Given the description of an element on the screen output the (x, y) to click on. 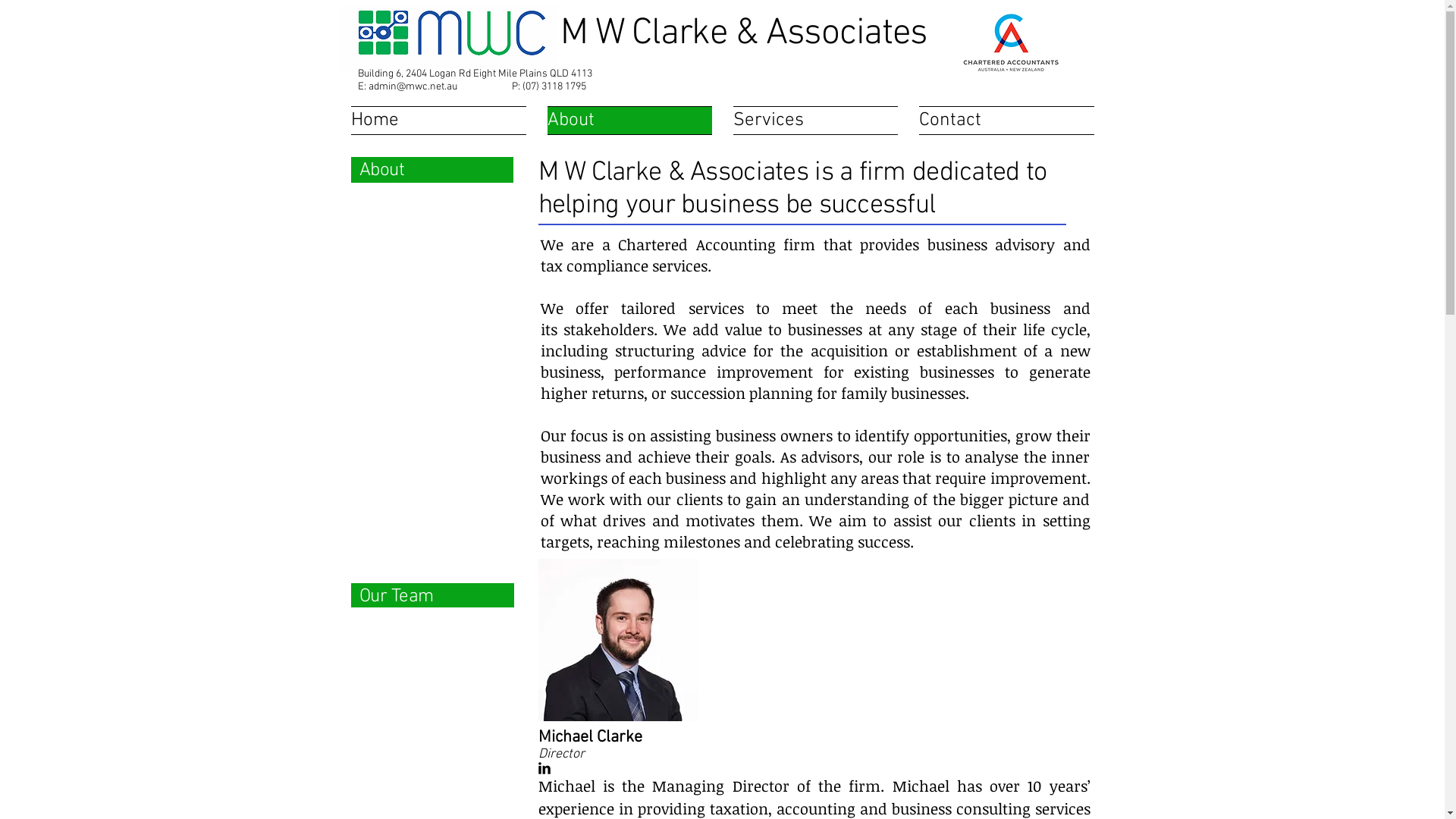
MWC profile picture.jpg Element type: hover (618, 639)
Home Element type: text (443, 120)
admin@mwc.net.au Element type: text (412, 86)
Contact Element type: text (1001, 120)
Services Element type: text (814, 120)
About Element type: text (629, 120)
